Given the description of an element on the screen output the (x, y) to click on. 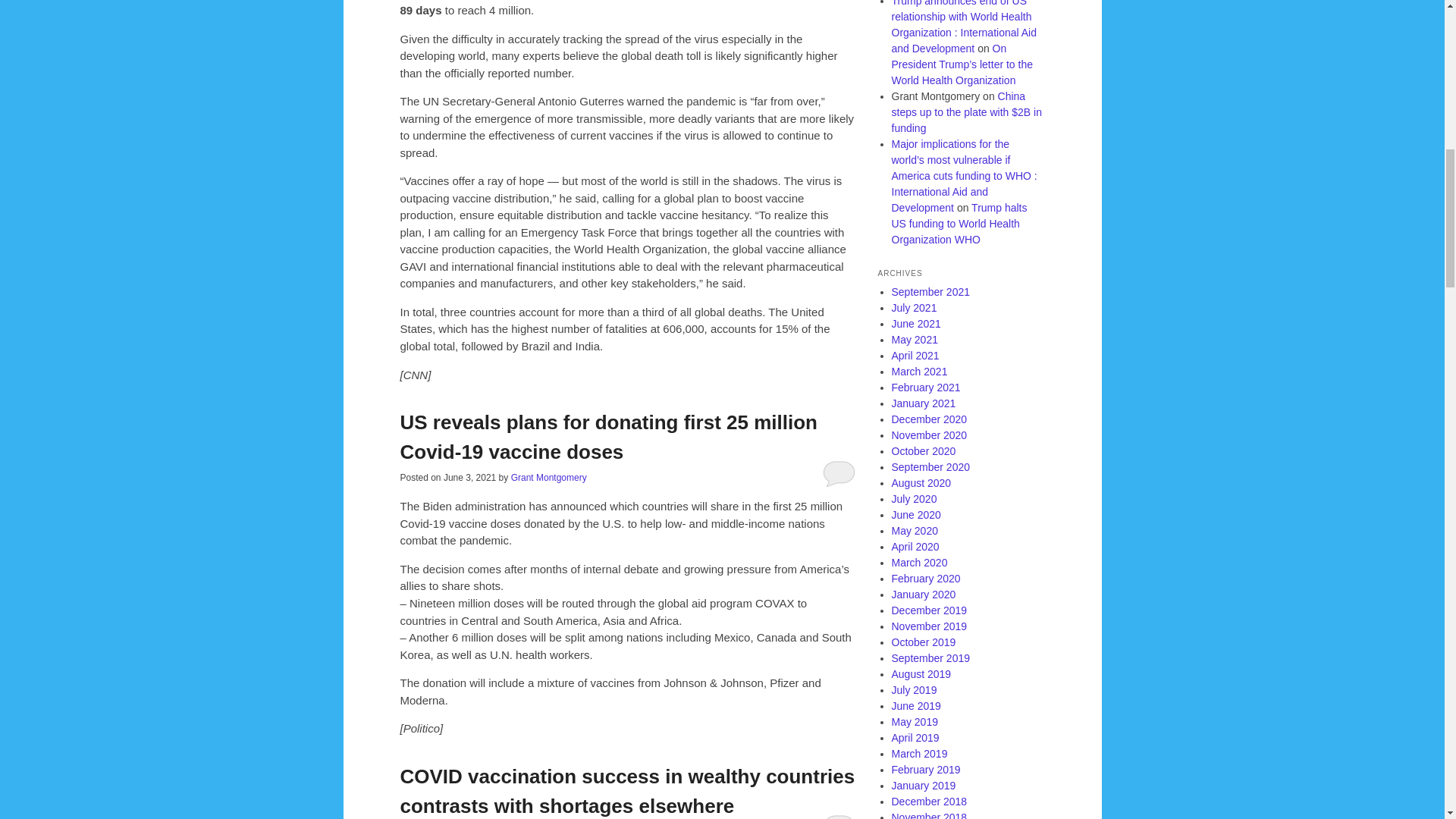
Grant Montgomery (548, 477)
Posts by Grant Montgomery (548, 477)
